Given the description of an element on the screen output the (x, y) to click on. 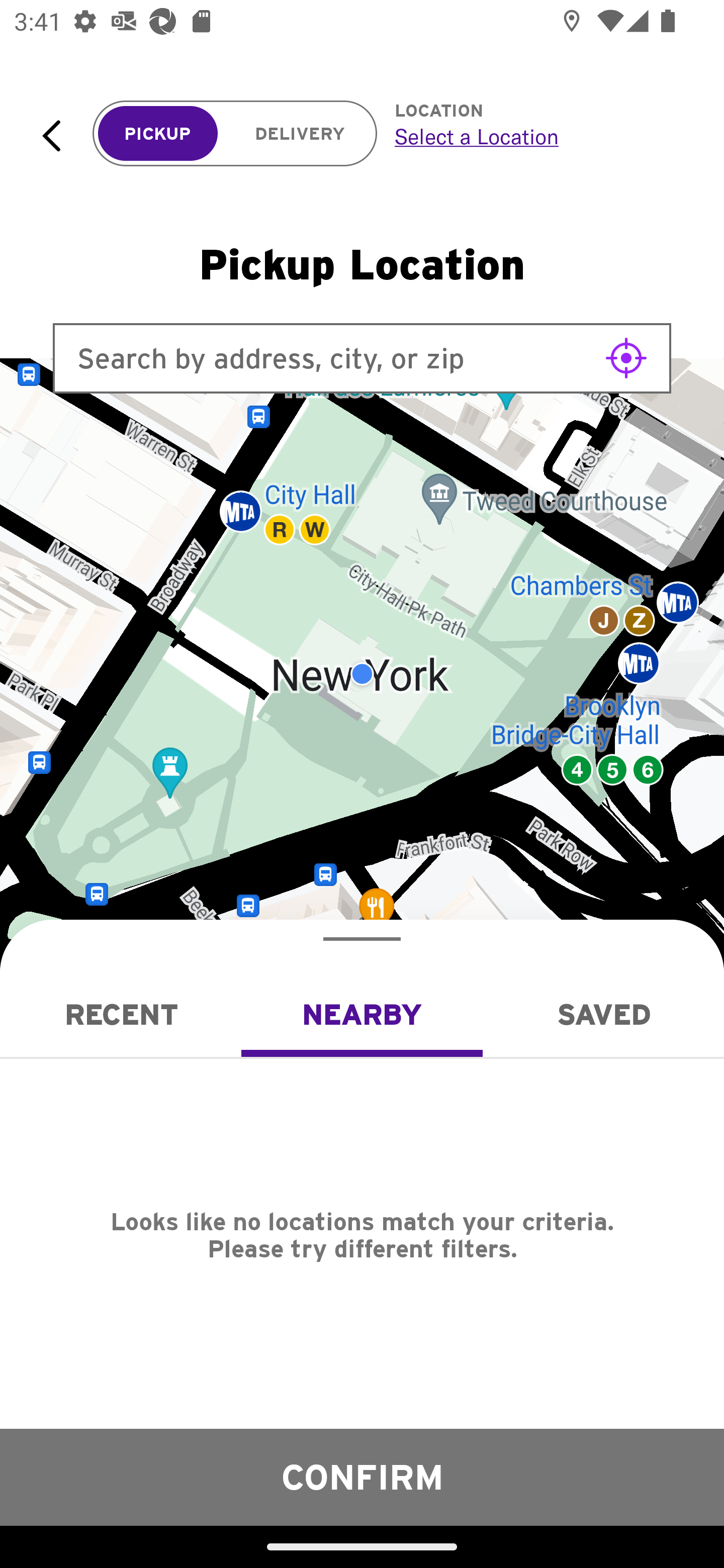
PICKUP (157, 133)
DELIVERY (299, 133)
Select a Location (536, 136)
Search by address, city, or zip (361, 358)
Google Map (362, 674)
Recent RECENT (120, 1014)
Saved SAVED (603, 1014)
CONFIRM (362, 1476)
